Given the description of an element on the screen output the (x, y) to click on. 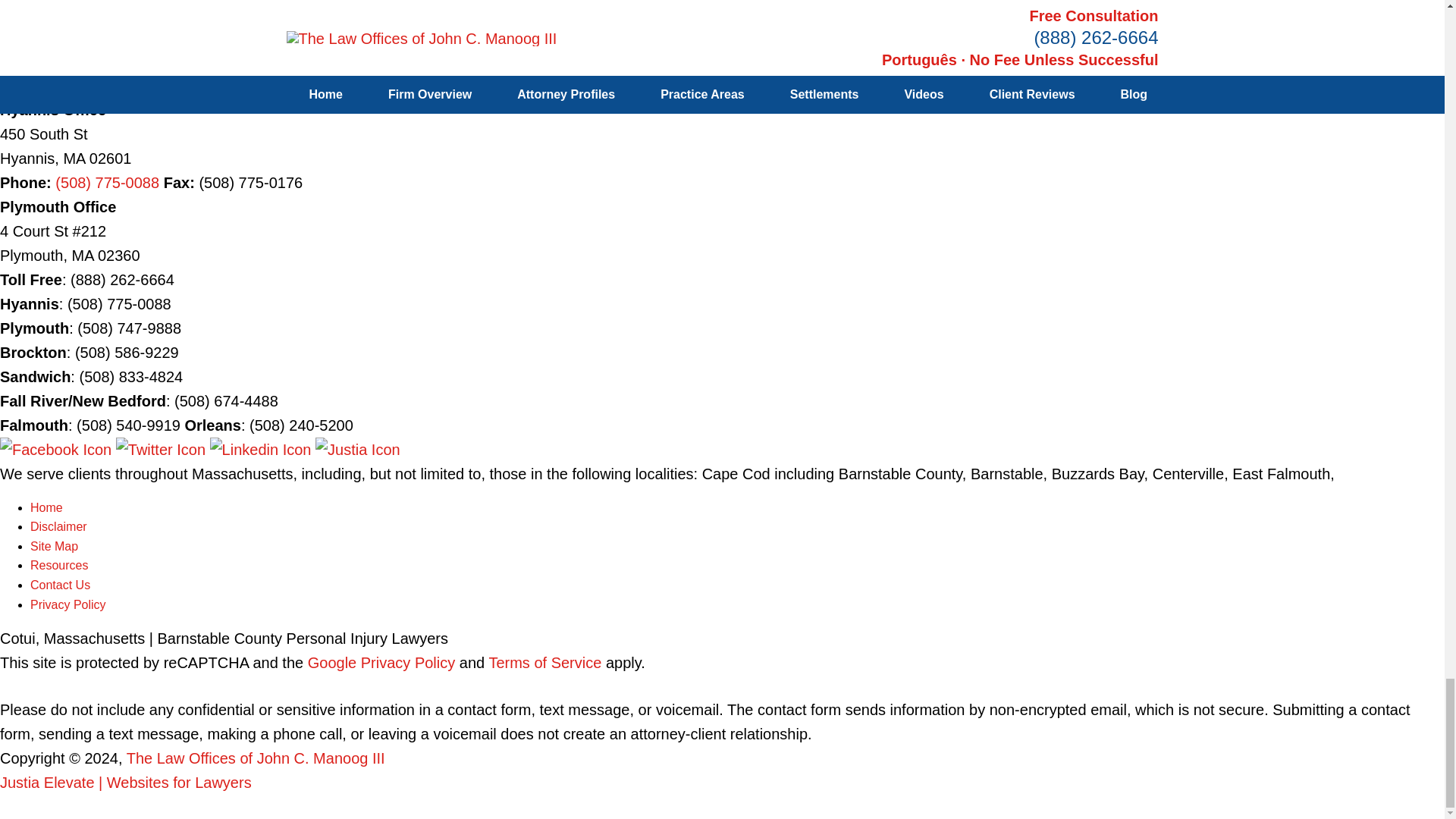
Linkedin (262, 449)
Justia (357, 449)
Twitter (162, 449)
Facebook (58, 449)
